Given the description of an element on the screen output the (x, y) to click on. 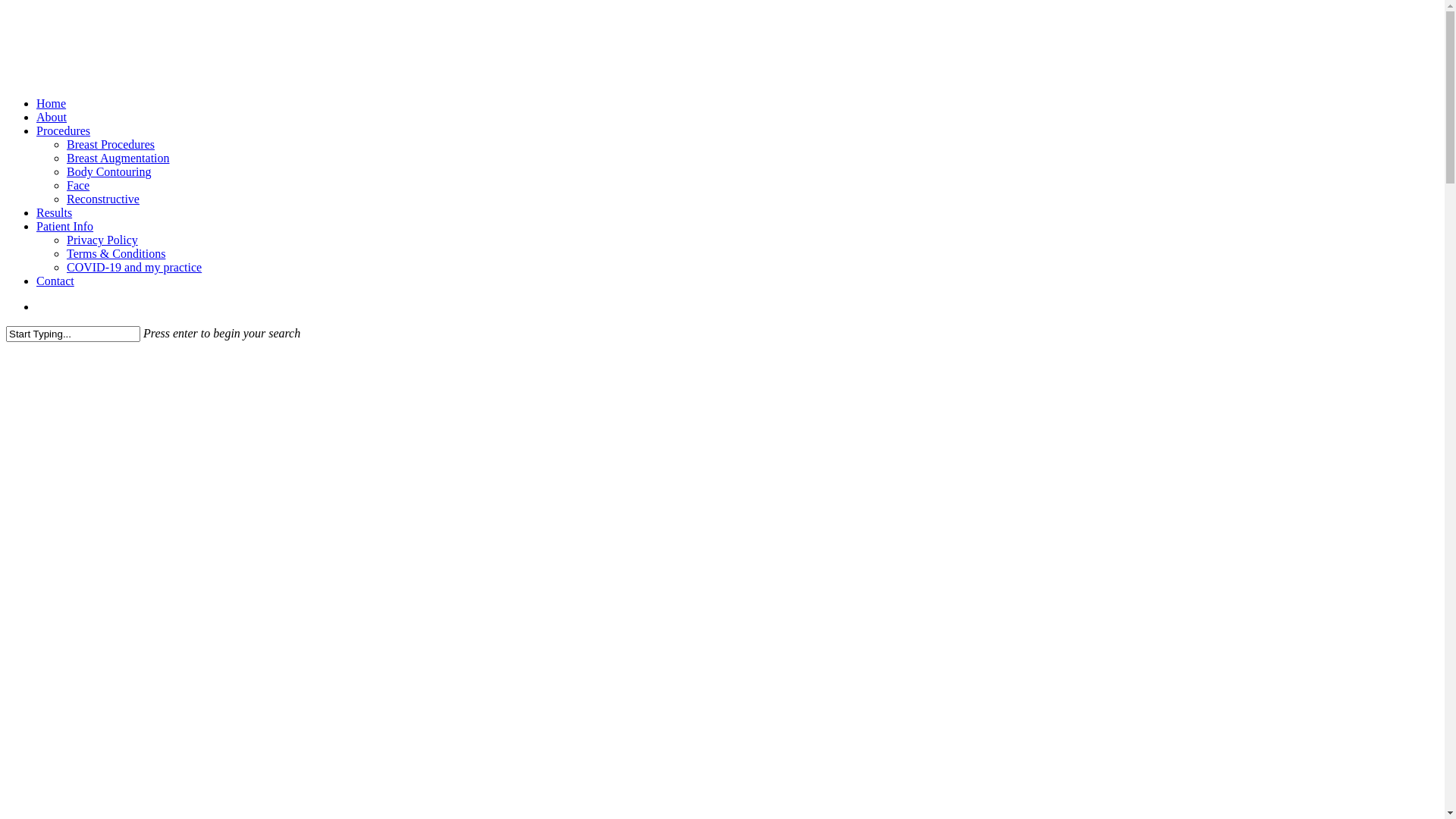
Procedures Element type: text (63, 130)
Home Element type: text (50, 103)
Breast Augmentation Element type: text (117, 157)
Body Contouring Element type: text (108, 171)
Patient Info Element type: text (64, 225)
Privacy Policy Element type: text (102, 239)
Contact Element type: text (55, 280)
About Element type: text (51, 116)
COVID-19 and my practice Element type: text (133, 266)
Results Element type: text (54, 212)
Terms & Conditions Element type: text (115, 253)
Breast Procedures Element type: text (110, 144)
Reconstructive Element type: text (102, 198)
Face Element type: text (77, 184)
